Given the description of an element on the screen output the (x, y) to click on. 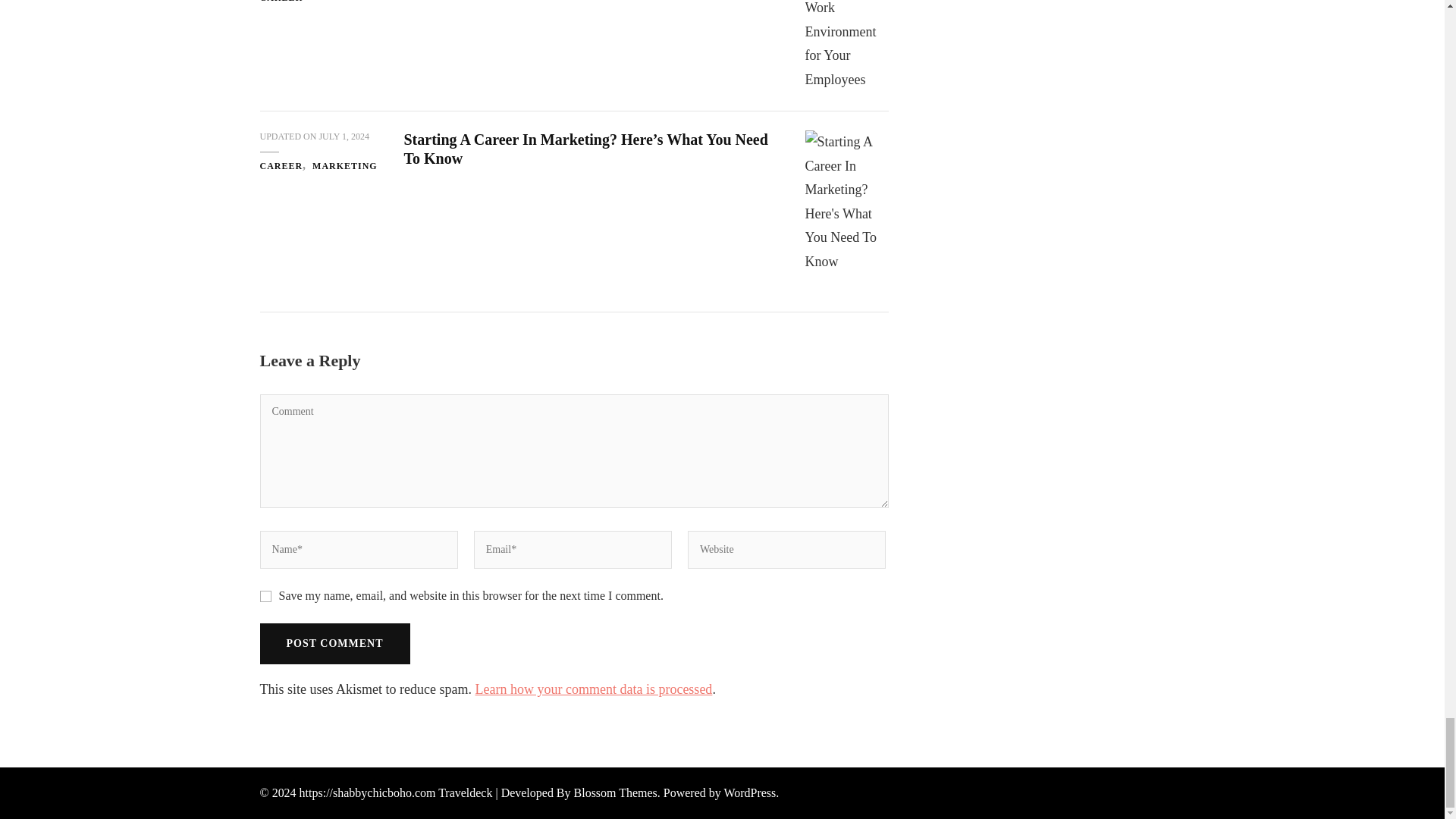
Post Comment (334, 643)
